Given the description of an element on the screen output the (x, y) to click on. 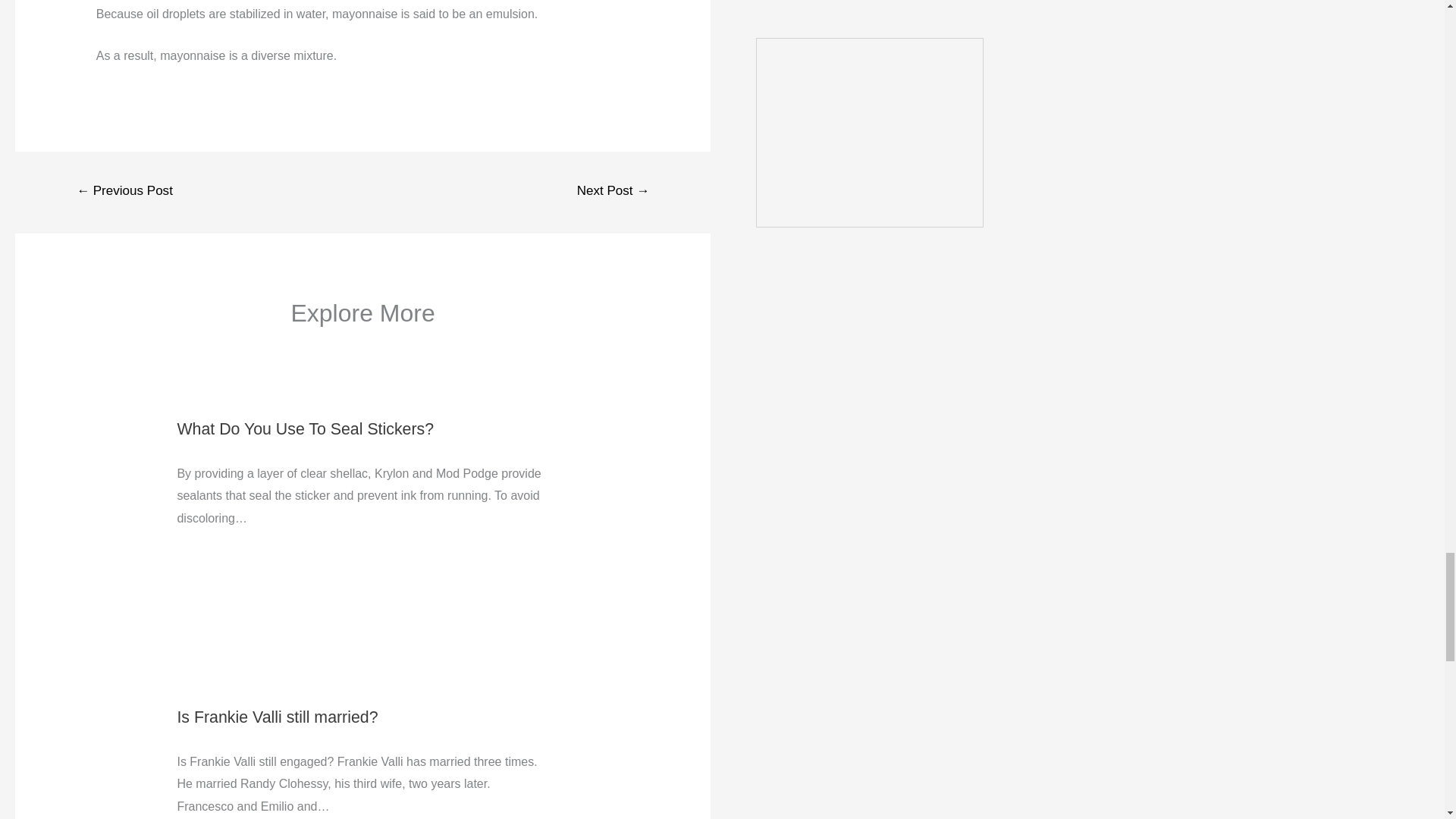
Is Frankie Valli still married? (276, 717)
What Do You Use To Seal Stickers? (304, 429)
